Given the description of an element on the screen output the (x, y) to click on. 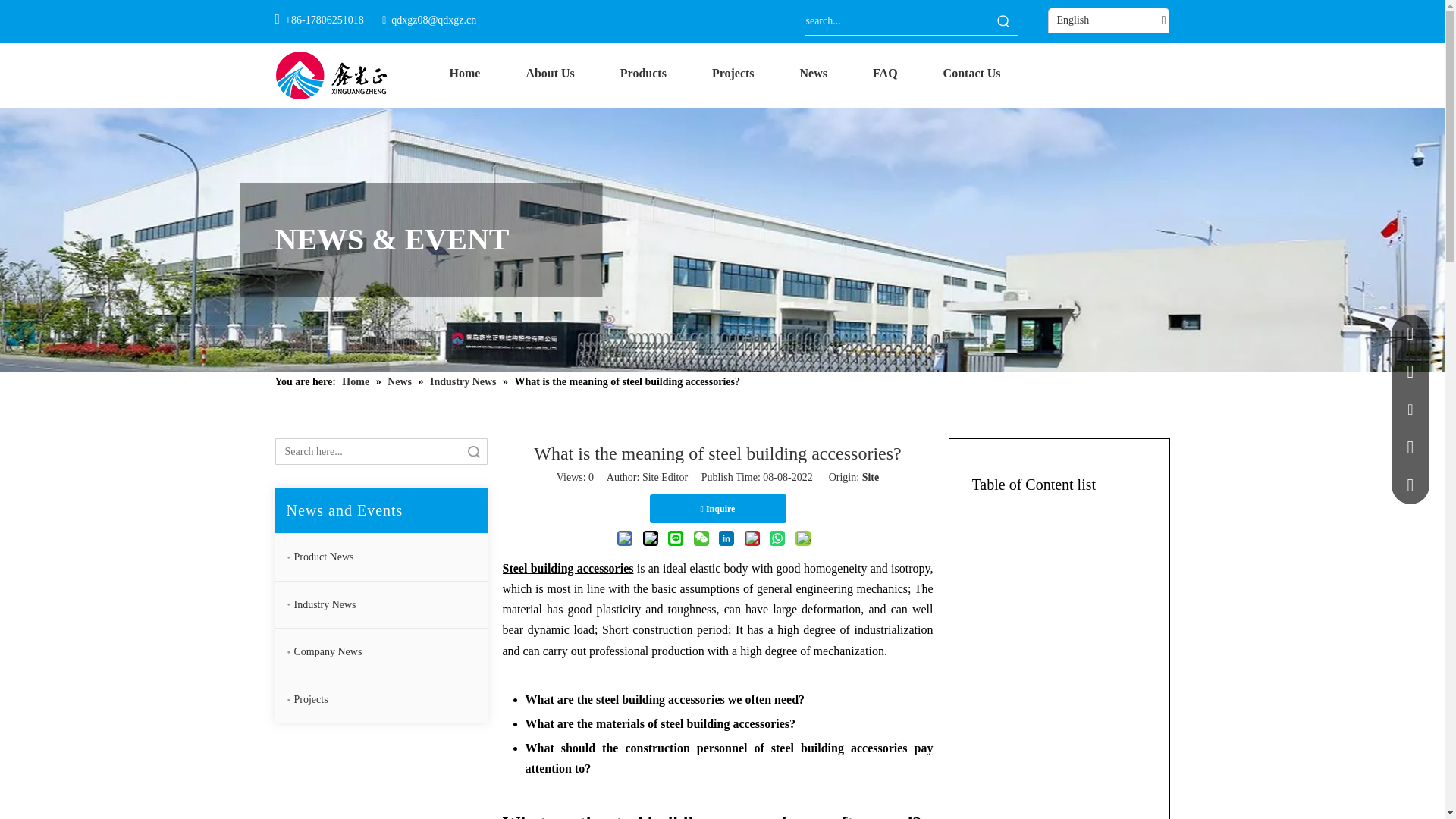
China Industrial Steel building Supplier (331, 74)
About Us (549, 73)
Projects (732, 73)
Industry News (390, 604)
Product News (390, 556)
Contact Us (971, 73)
News (813, 73)
Home (464, 73)
FAQ (885, 73)
Projects (390, 699)
Products (642, 73)
Company News (390, 651)
